Given the description of an element on the screen output the (x, y) to click on. 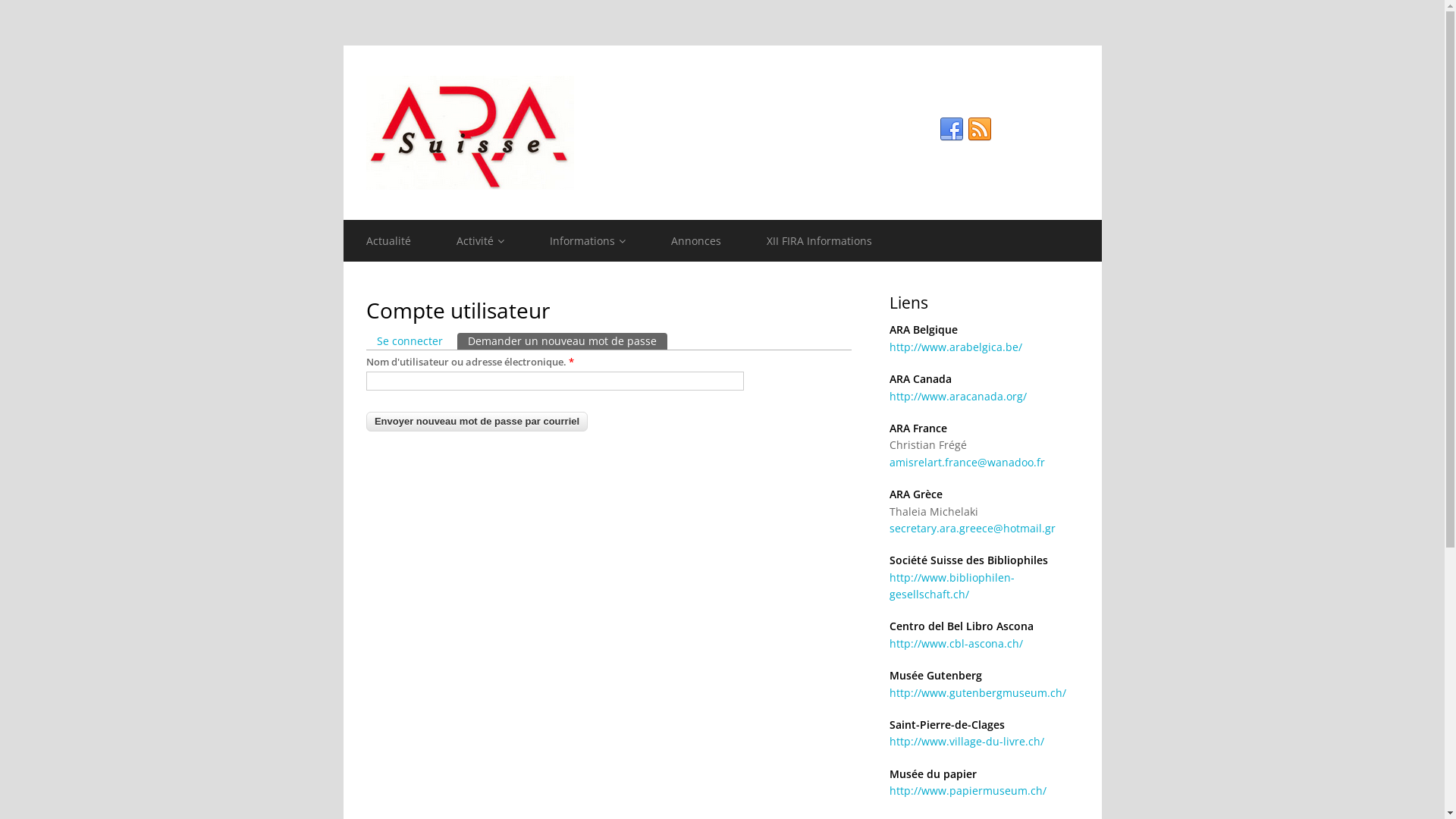
secretary.ara.greece@hotmail.gr Element type: text (971, 527)
Annonces Element type: text (695, 240)
http://www.papiermuseum.ch/ Element type: text (966, 790)
http://www.aracanada.org/ Element type: text (957, 396)
Se connecter Element type: text (408, 340)
http://www.village-du-livre.ch/ Element type: text (965, 741)
http://www.cbl-ascona.ch/ Element type: text (955, 643)
arasuisse.ch in RSS Element type: hover (979, 129)
Informations Element type: text (586, 240)
Demander un nouveau mot de passe
(onglet actif) Element type: text (561, 340)
Accueil Element type: hover (721, 132)
XII FIRA Informations Element type: text (818, 240)
Envoyer nouveau mot de passe par courriel Element type: text (476, 421)
http://www.gutenbergmuseum.ch/ Element type: text (976, 692)
http://www.bibliophilen-gesellschaft.ch/ Element type: text (950, 585)
http://www.arabelgica.be/ Element type: text (954, 346)
amisrelart.france@wanadoo.fr Element type: text (966, 462)
arasuisse.ch in Facebook Element type: hover (950, 129)
